Given the description of an element on the screen output the (x, y) to click on. 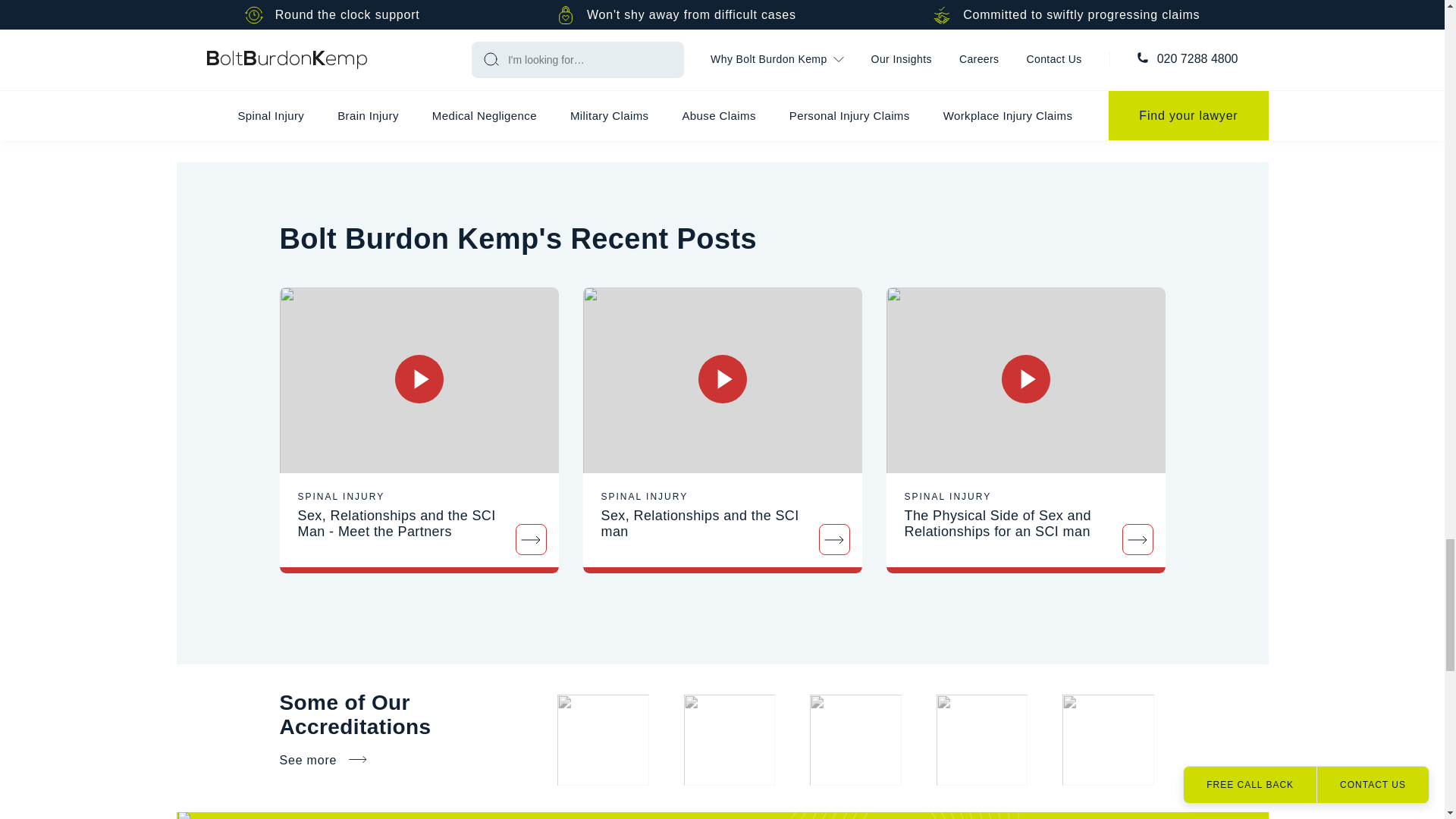
Happy,Man,Using,Wheelchair,Hugging,With,Wife (418, 380)
Two,Friends,Talking,Sitting,In,A,Couch,In,The,Living (721, 380)
